Given the description of an element on the screen output the (x, y) to click on. 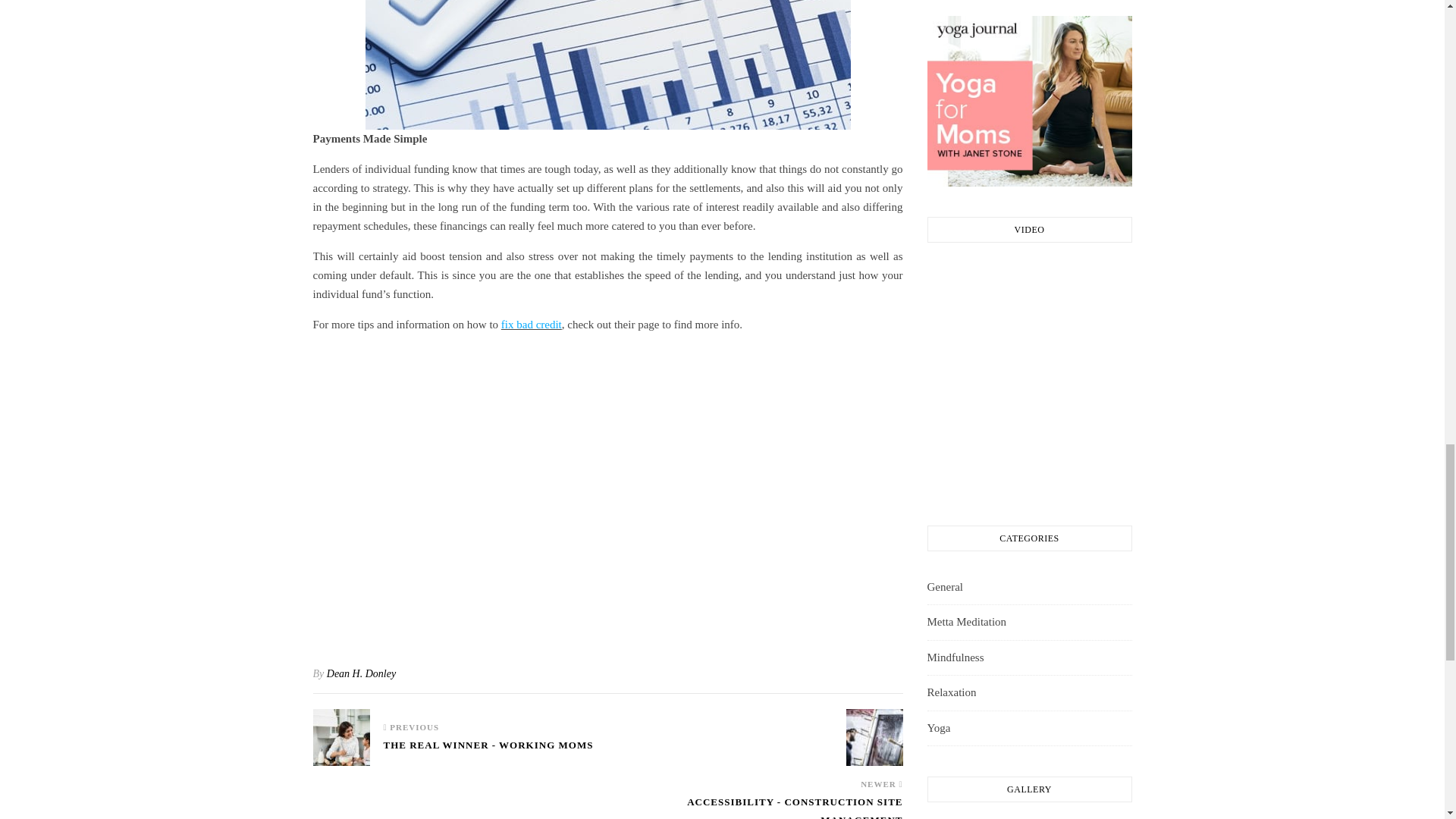
Posts by Dean H. Donley (361, 673)
fix bad credit (531, 324)
THE REAL WINNER - WORKING MOMS (489, 752)
Accessibility - Construction Site Management (755, 806)
Accessibility - Construction Site Management (873, 737)
The Real Winner - Working Moms (341, 737)
The Real Winner - Working Moms (489, 752)
YouTube video player (607, 491)
ACCESSIBILITY - CONSTRUCTION SITE MANAGEMENT (755, 806)
Dean H. Donley (361, 673)
